Given the description of an element on the screen output the (x, y) to click on. 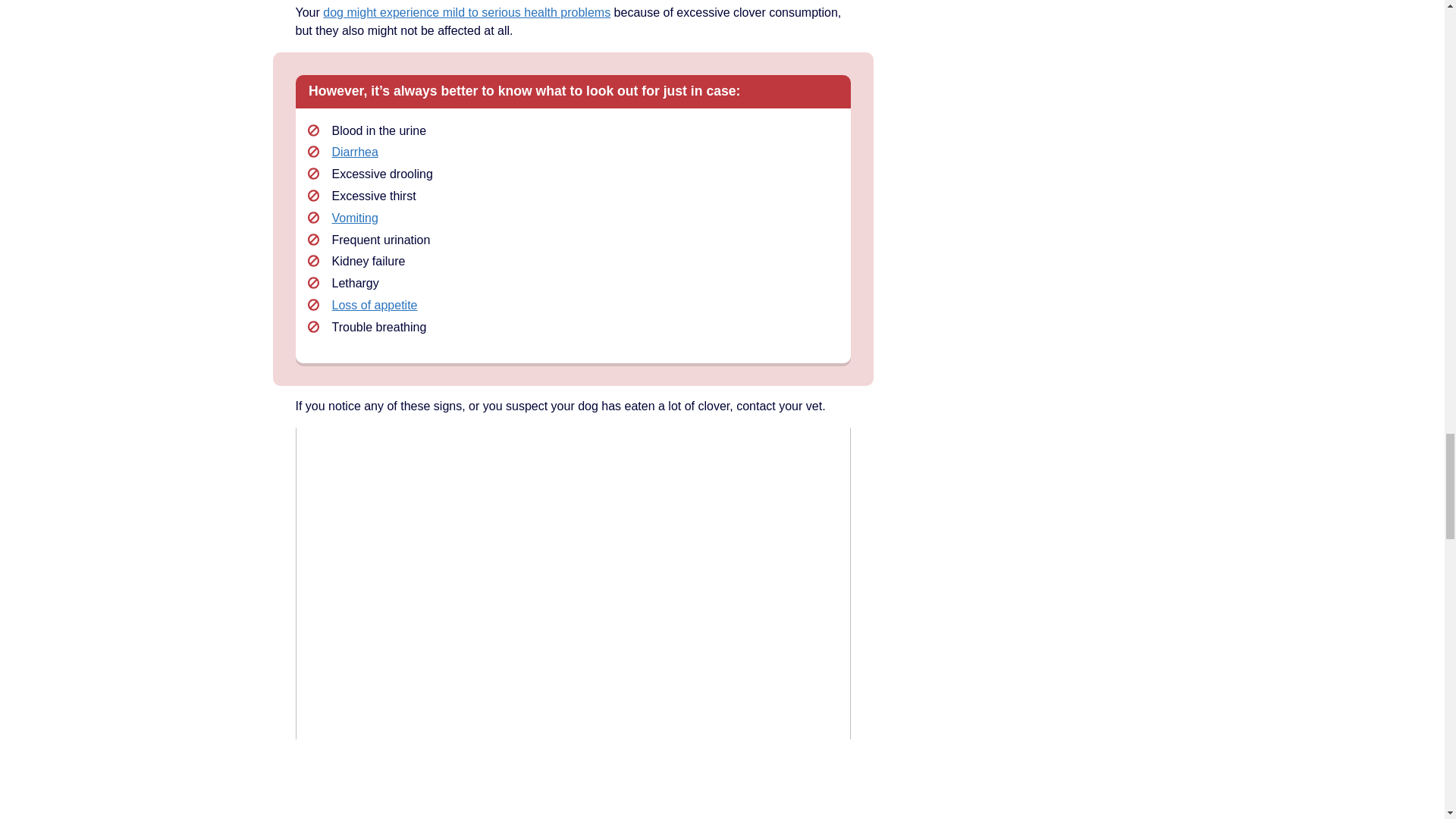
dog might experience mild to serious health problems (466, 11)
Diarrhea (354, 151)
